Given the description of an element on the screen output the (x, y) to click on. 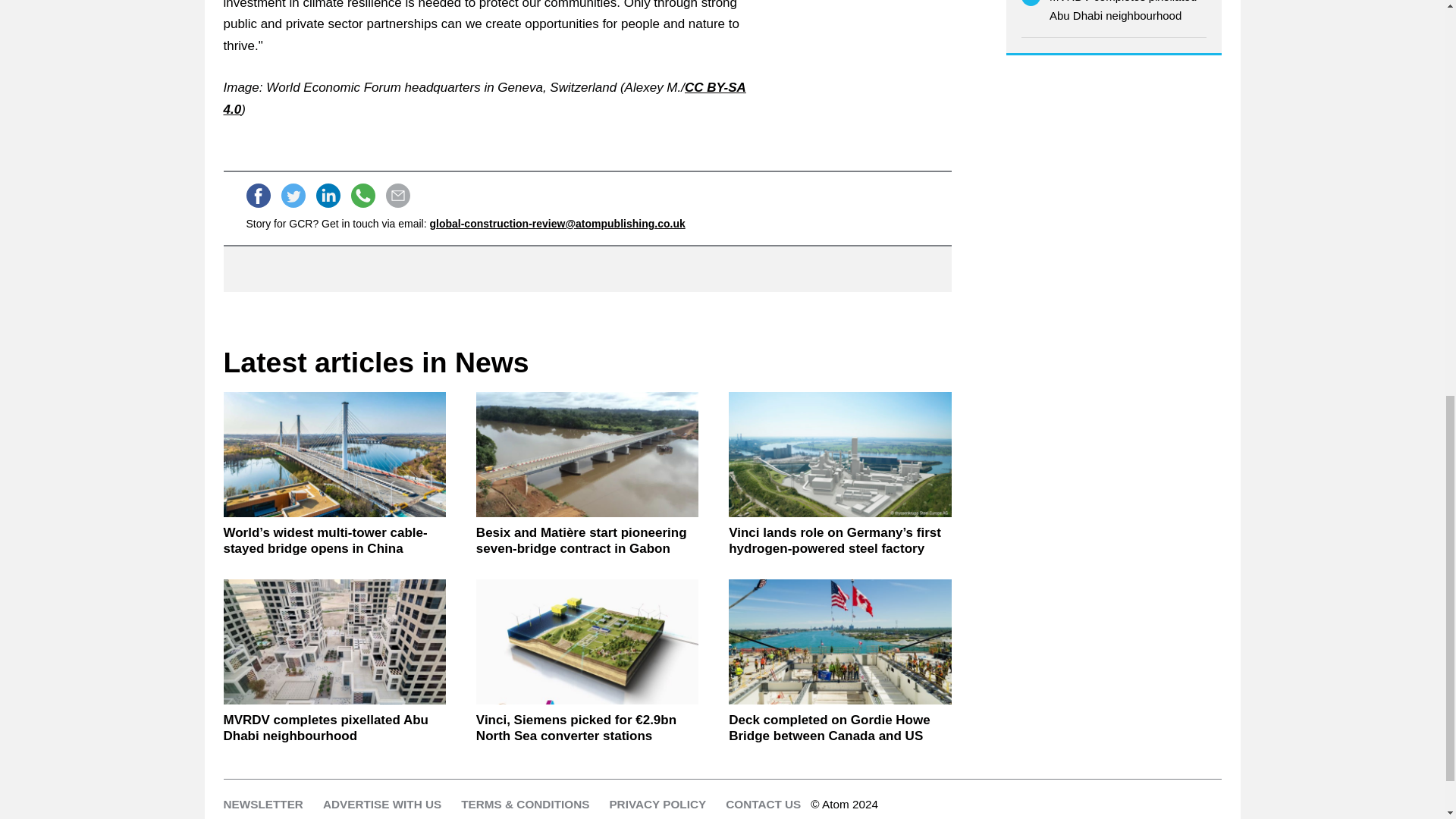
Tweet (292, 195)
Share on Facebook (257, 195)
Share on WhatsApp (362, 195)
Share on LinkedIn (327, 195)
Send email (397, 195)
